Given the description of an element on the screen output the (x, y) to click on. 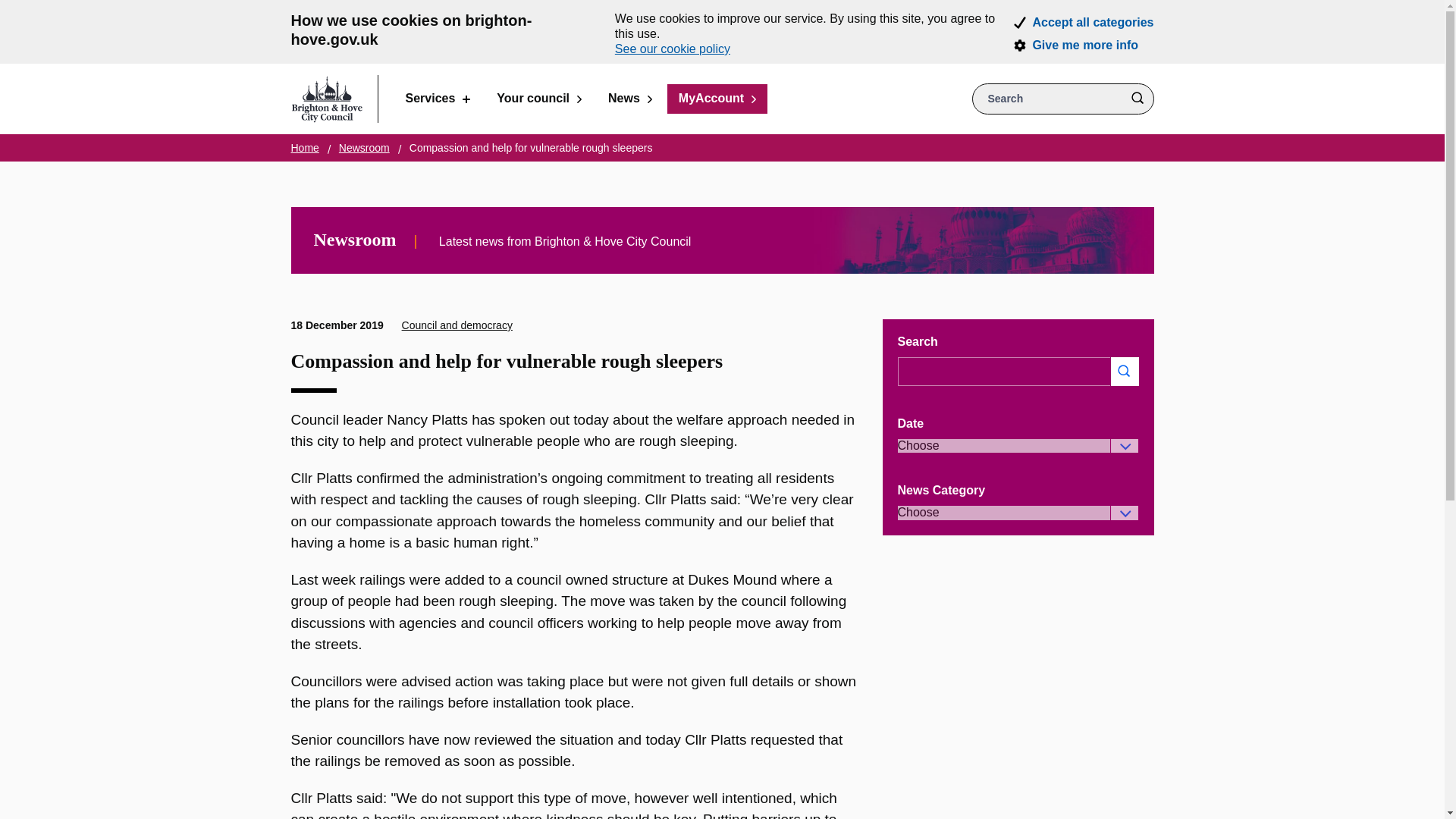
Enter the terms you wish to search for. (1063, 98)
Search (1137, 98)
Give me more info (1085, 45)
Accept all categories (1092, 22)
News (629, 98)
MyAccount (716, 98)
Skip to main content (11, 11)
See our cookie policy (672, 48)
Your council (538, 98)
